Given the description of an element on the screen output the (x, y) to click on. 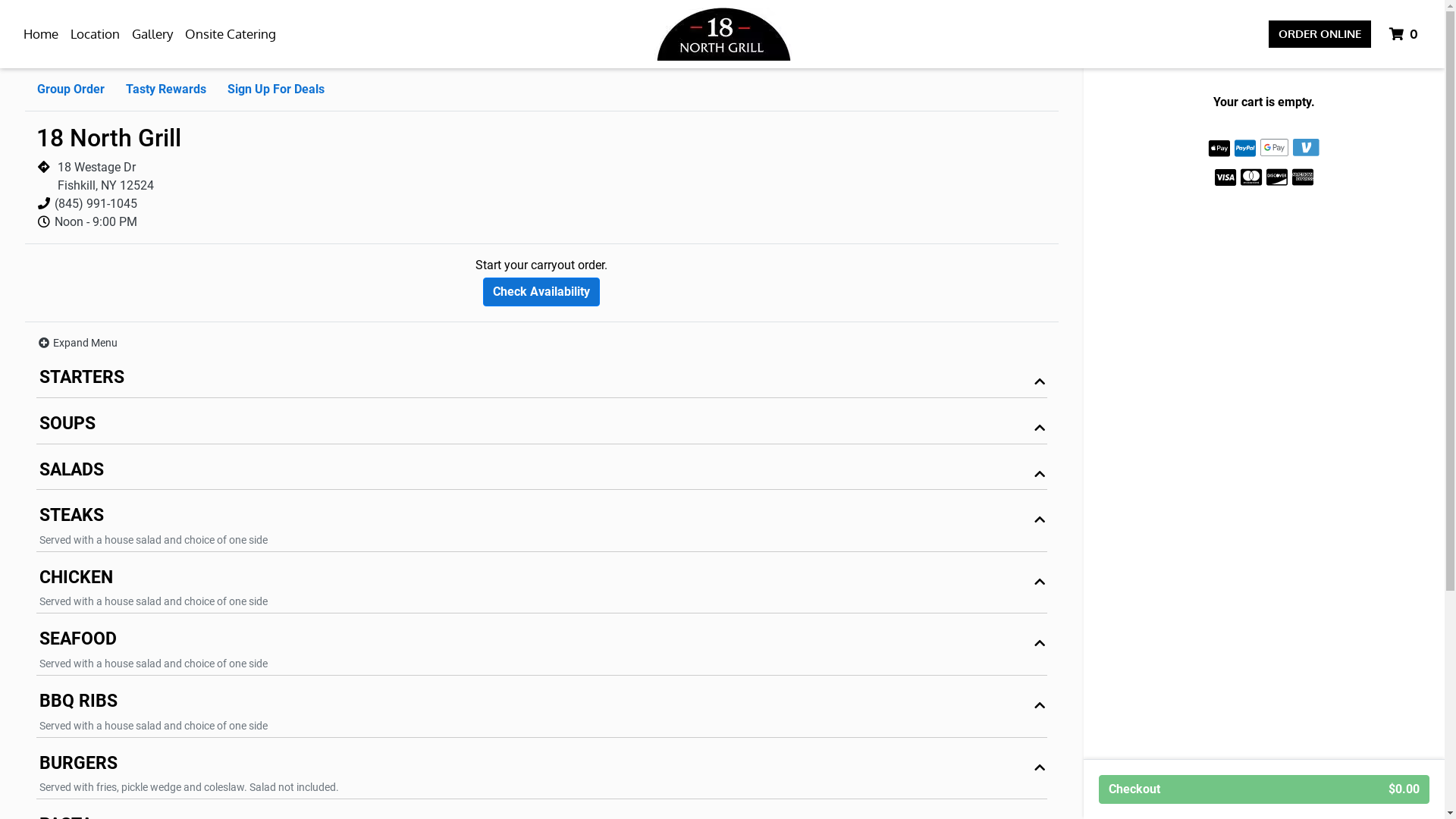
BBQ RIBS
Served with a house salad and choice of one side Element type: text (541, 712)
(845) 991-1045 Element type: text (95, 203)
Expand Menu Element type: text (77, 342)
Tasty Rewards Element type: text (165, 89)
SALADS Element type: text (541, 473)
Accepts Visa Element type: hover (1225, 175)
Checkout
$0.00 Element type: text (1263, 789)
Accepts American Express Element type: hover (1302, 175)
ORDER ONLINE Element type: text (1319, 34)
Accepts Google Pay Element type: hover (1274, 147)
SEAFOOD
Served with a house salad and choice of one side Element type: text (541, 650)
0
 items in Cart Element type: text (1405, 34)
Accepts Mastercard Element type: hover (1250, 175)
Accepts Apple Pay Element type: hover (1219, 147)
Accepts Venmo Element type: hover (1305, 147)
Accepts PayPal Element type: hover (1244, 147)
Home Element type: text (40, 34)
STEAKS
Served with a house salad and choice of one side Element type: text (541, 527)
CHICKEN
Served with a house salad and choice of one side Element type: text (541, 589)
SOUPS Element type: text (541, 427)
STARTERS Element type: text (541, 381)
Location Element type: text (94, 34)
Group Order Element type: text (70, 89)
18 Westage Dr
Fishkill, NY 12524 Element type: text (105, 176)
Gallery Element type: text (151, 34)
Accepts Discover Element type: hover (1276, 175)
Onsite Catering Element type: text (230, 34)
Check Availability Element type: text (541, 291)
Noon - 9:00 PM Element type: text (95, 221)
Sign Up For Deals Element type: text (275, 89)
